Given the description of an element on the screen output the (x, y) to click on. 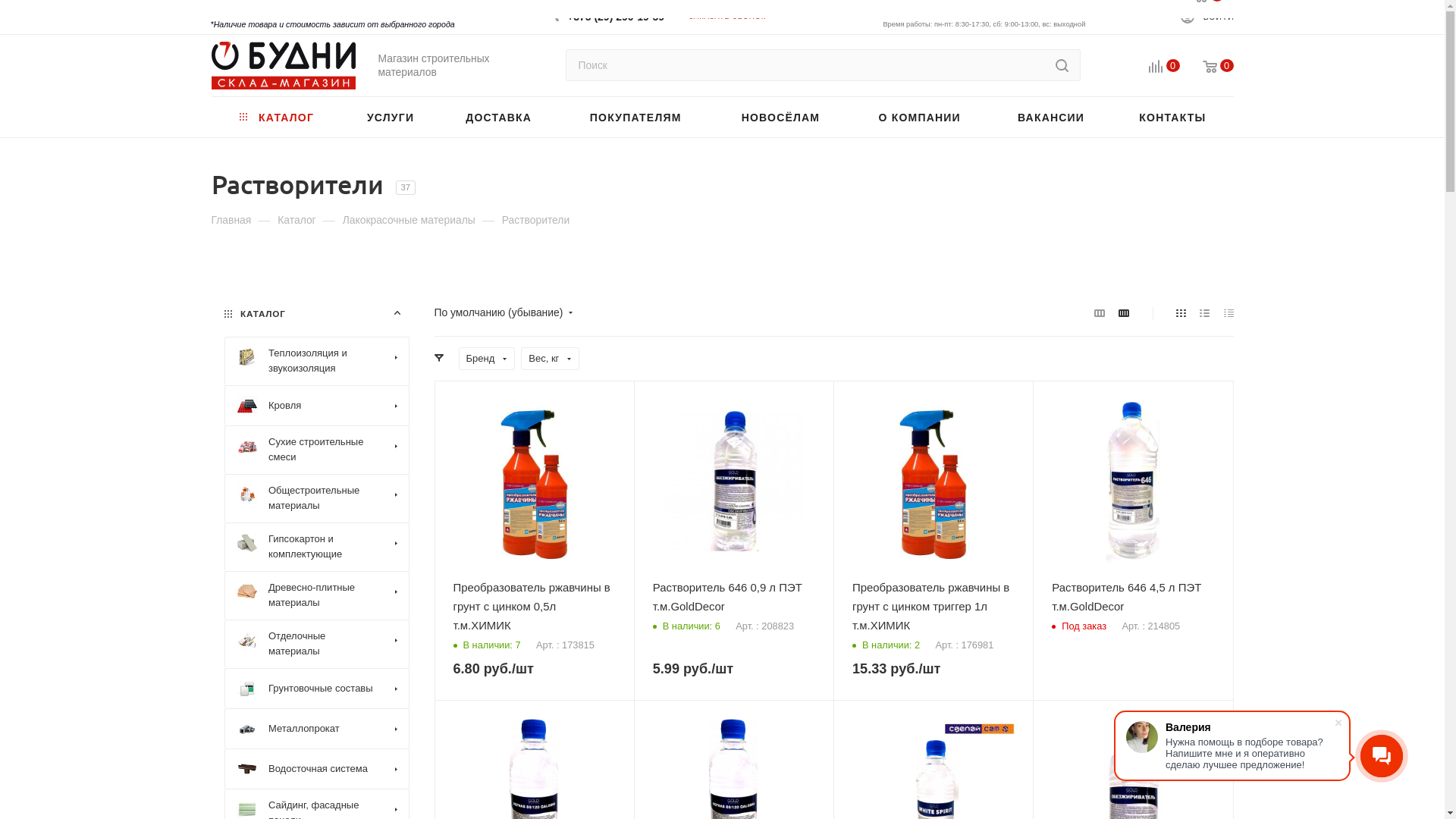
0 Element type: text (1152, 66)
0 Element type: text (1206, 66)
+375 (29) 290-19-59 Element type: text (615, 11)
